Given the description of an element on the screen output the (x, y) to click on. 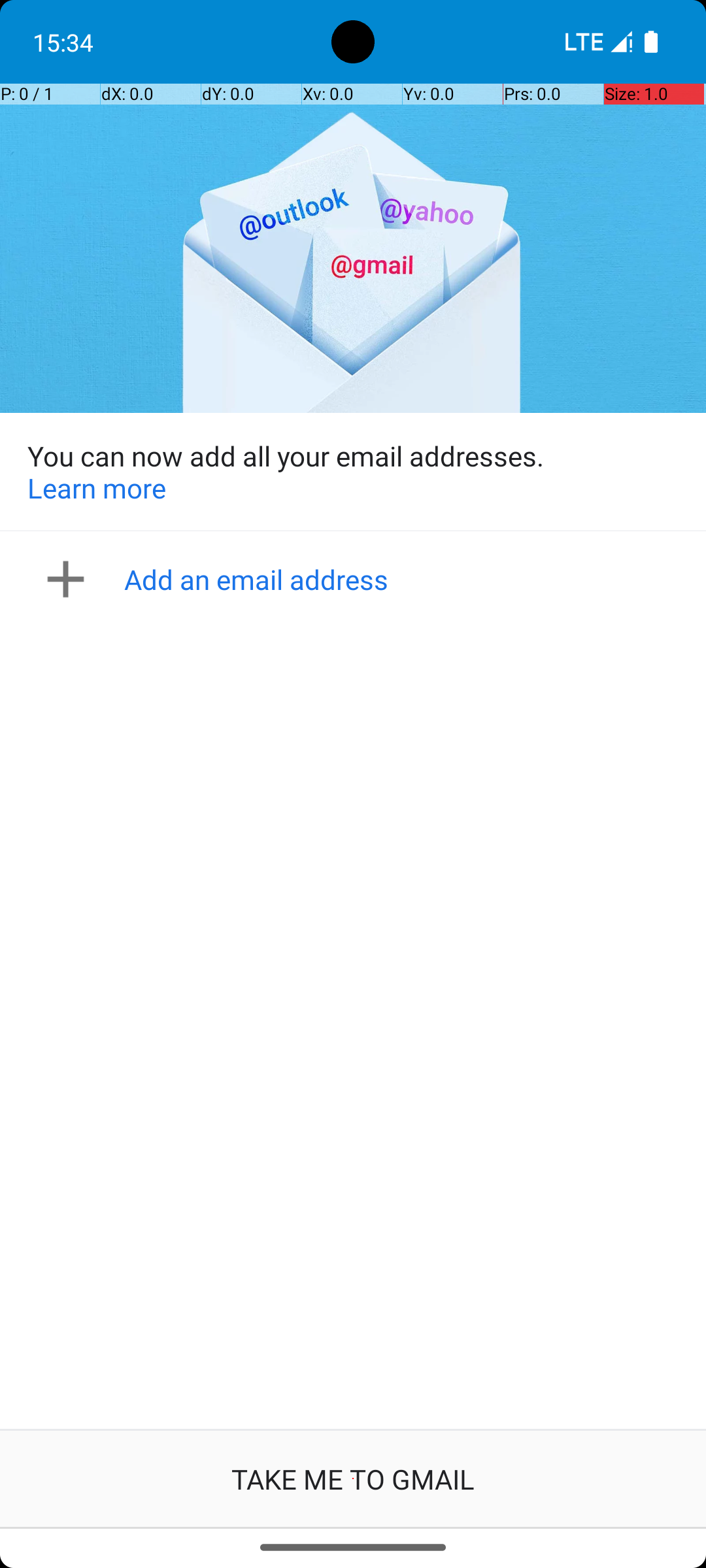
You can now add all your email addresses. Learn more Element type: android.widget.TextView (352, 471)
TAKE ME TO GMAIL Element type: android.widget.TextView (353, 1478)
Add an email address Element type: android.widget.TextView (356, 579)
